Given the description of an element on the screen output the (x, y) to click on. 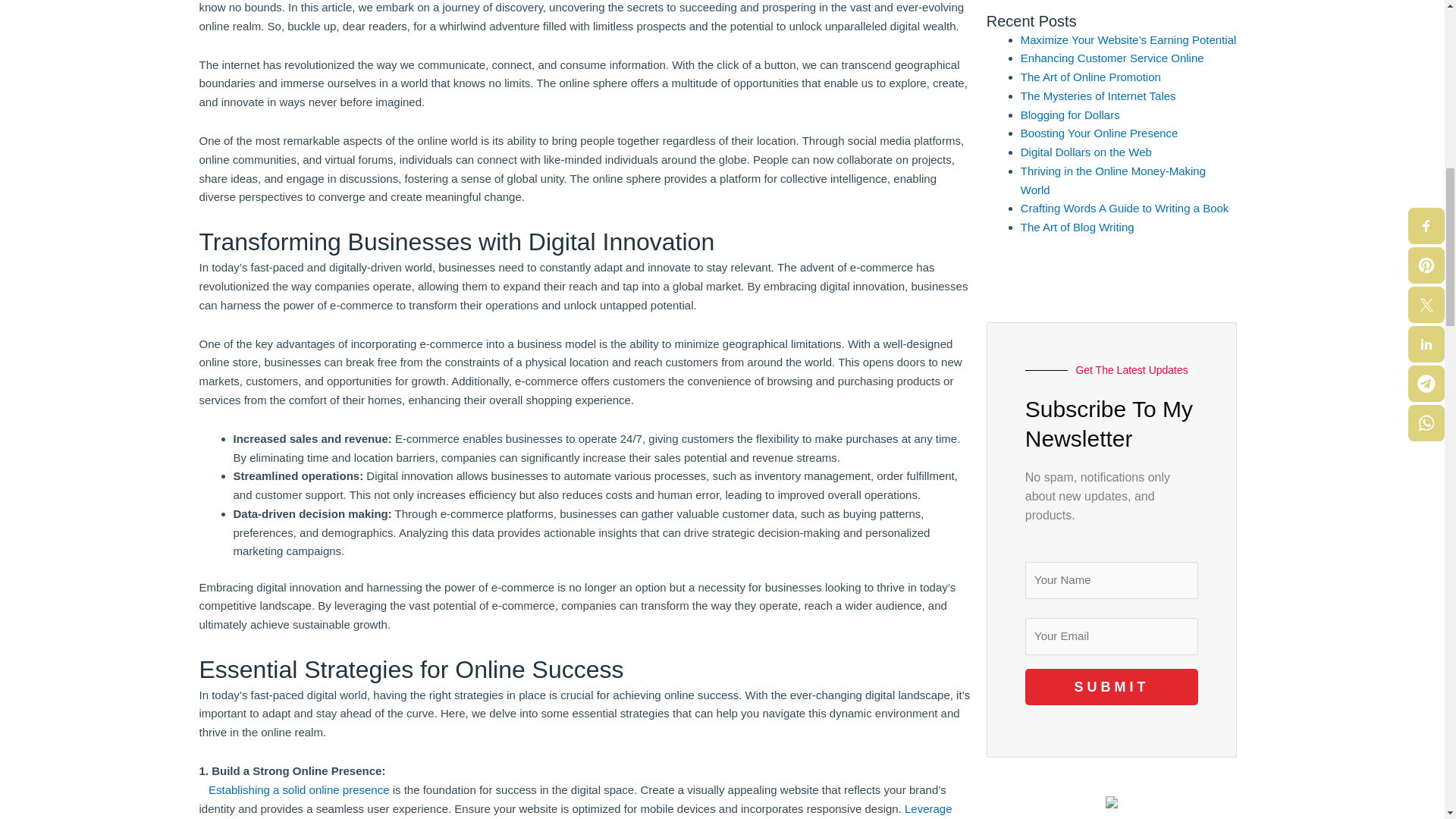
Submit (1111, 687)
Establishing a solid online presence (298, 789)
